Given the description of an element on the screen output the (x, y) to click on. 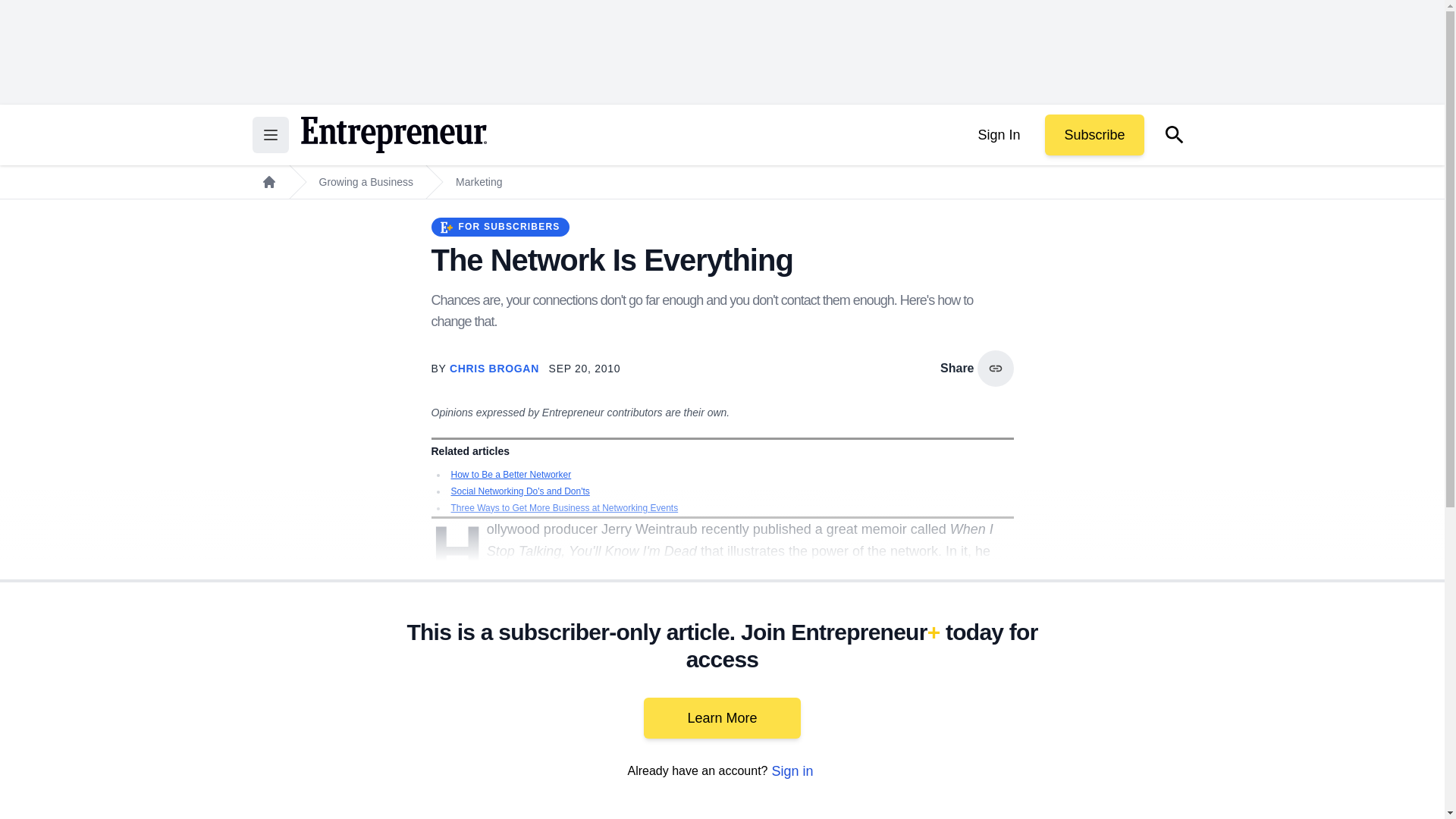
Subscribe (1093, 134)
Sign In (998, 134)
copy (994, 368)
Return to the home page (392, 135)
